Given the description of an element on the screen output the (x, y) to click on. 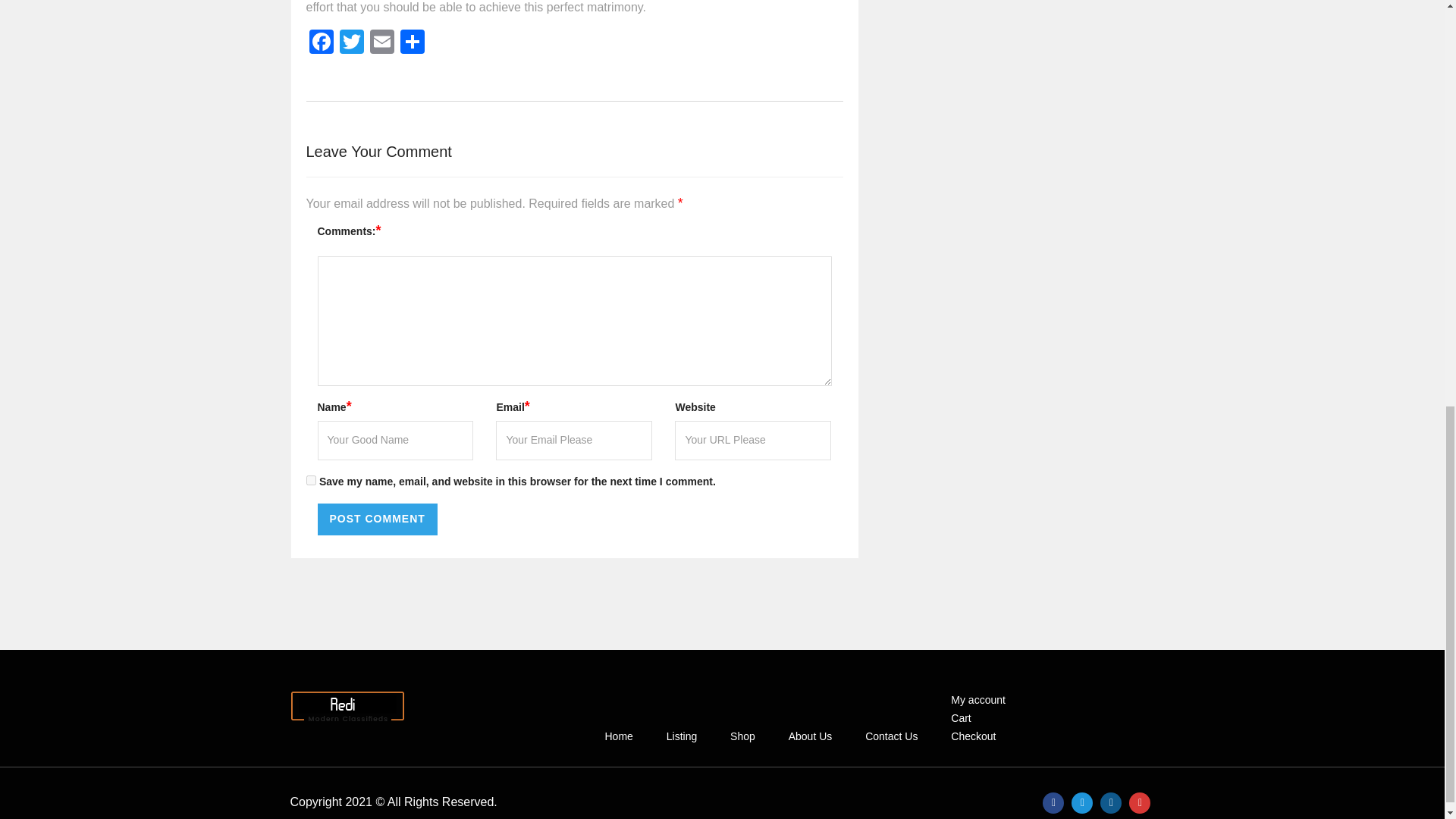
Email (381, 43)
Facebook (320, 43)
Cart (960, 717)
Email (381, 43)
Twitter (351, 43)
Home (617, 736)
My account (977, 699)
Shop (743, 736)
Listing (681, 736)
About Us (810, 736)
